Given the description of an element on the screen output the (x, y) to click on. 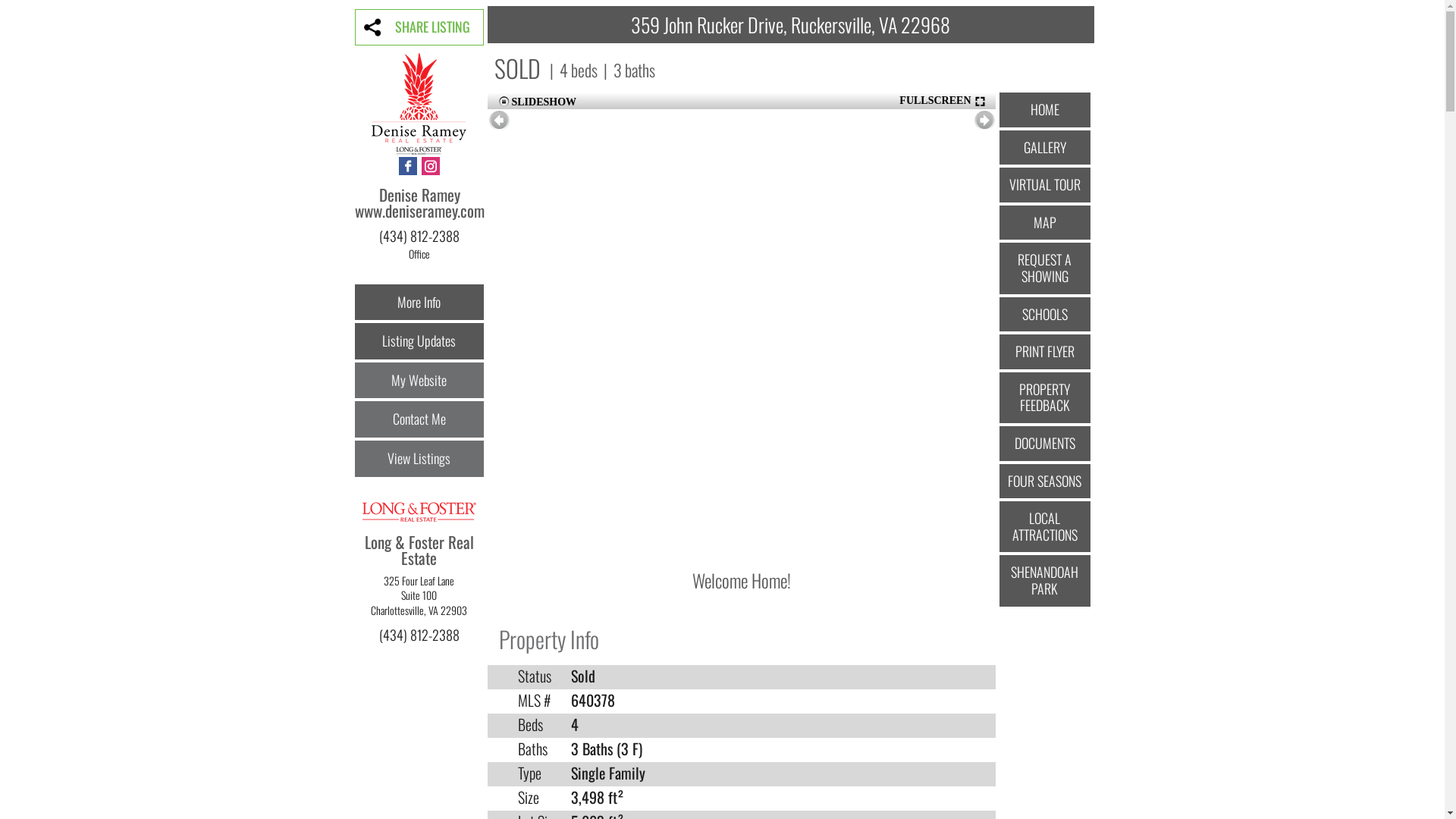
LOCAL ATTRACTIONS Element type: text (1044, 526)
Denise Ramey
www.deniseramey.com Element type: text (419, 210)
PROPERTY FEEDBACK Element type: text (1044, 397)
Long & Foster Real Estate Element type: text (418, 557)
Listing Updates Element type: text (418, 341)
PRINT FLYER Element type: text (1044, 351)
VIRTUAL TOUR Element type: text (1044, 184)
GALLERY Element type: text (1044, 147)
My Website Element type: text (418, 380)
SHENANDOAH PARK Element type: text (1044, 580)
DOCUMENTS Element type: text (1044, 443)
More Info Element type: text (418, 302)
Contact Me Element type: text (418, 419)
SCHOOLS Element type: text (1044, 314)
HOME Element type: text (1044, 109)
View Listings Element type: text (418, 458)
REQUEST A SHOWING Element type: text (1044, 267)
MAP Element type: text (1044, 222)
FOUR SEASONS Element type: text (1044, 481)
SHARE LISTING Element type: text (418, 27)
